Given the description of an element on the screen output the (x, y) to click on. 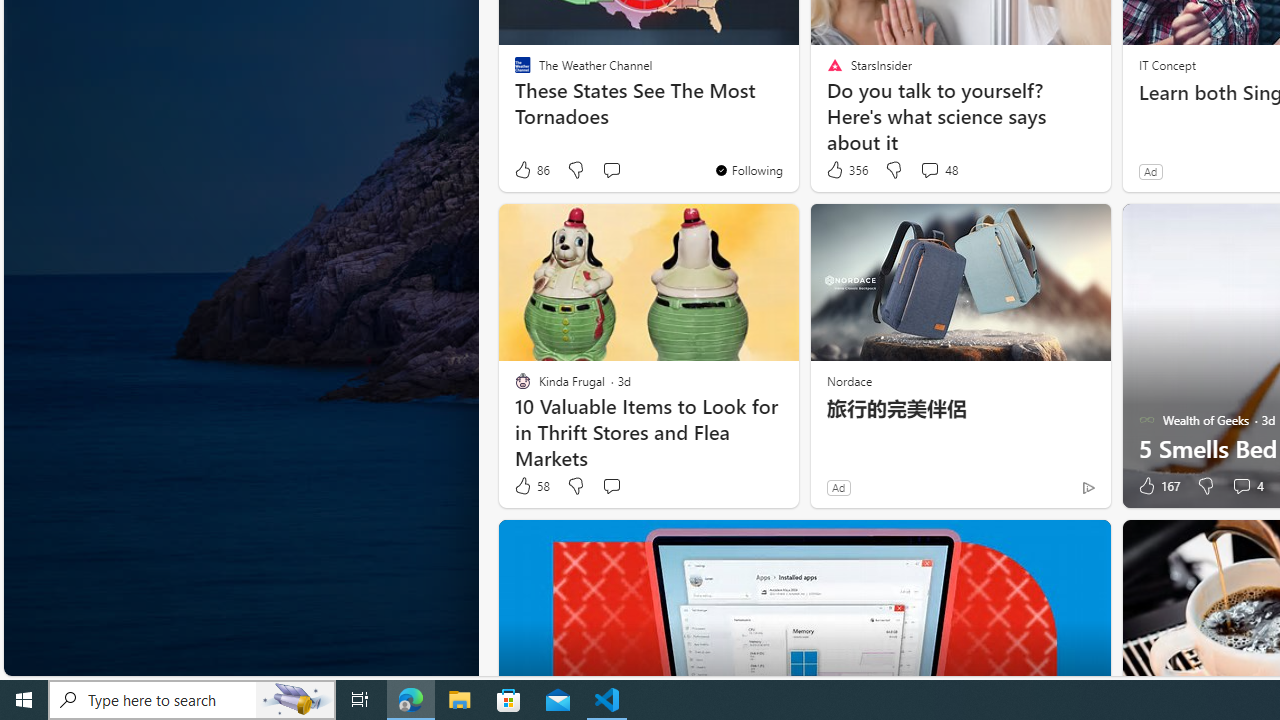
167 Like (1157, 485)
You're following The Weather Channel (747, 169)
Ad Choice (1087, 487)
